Given the description of an element on the screen output the (x, y) to click on. 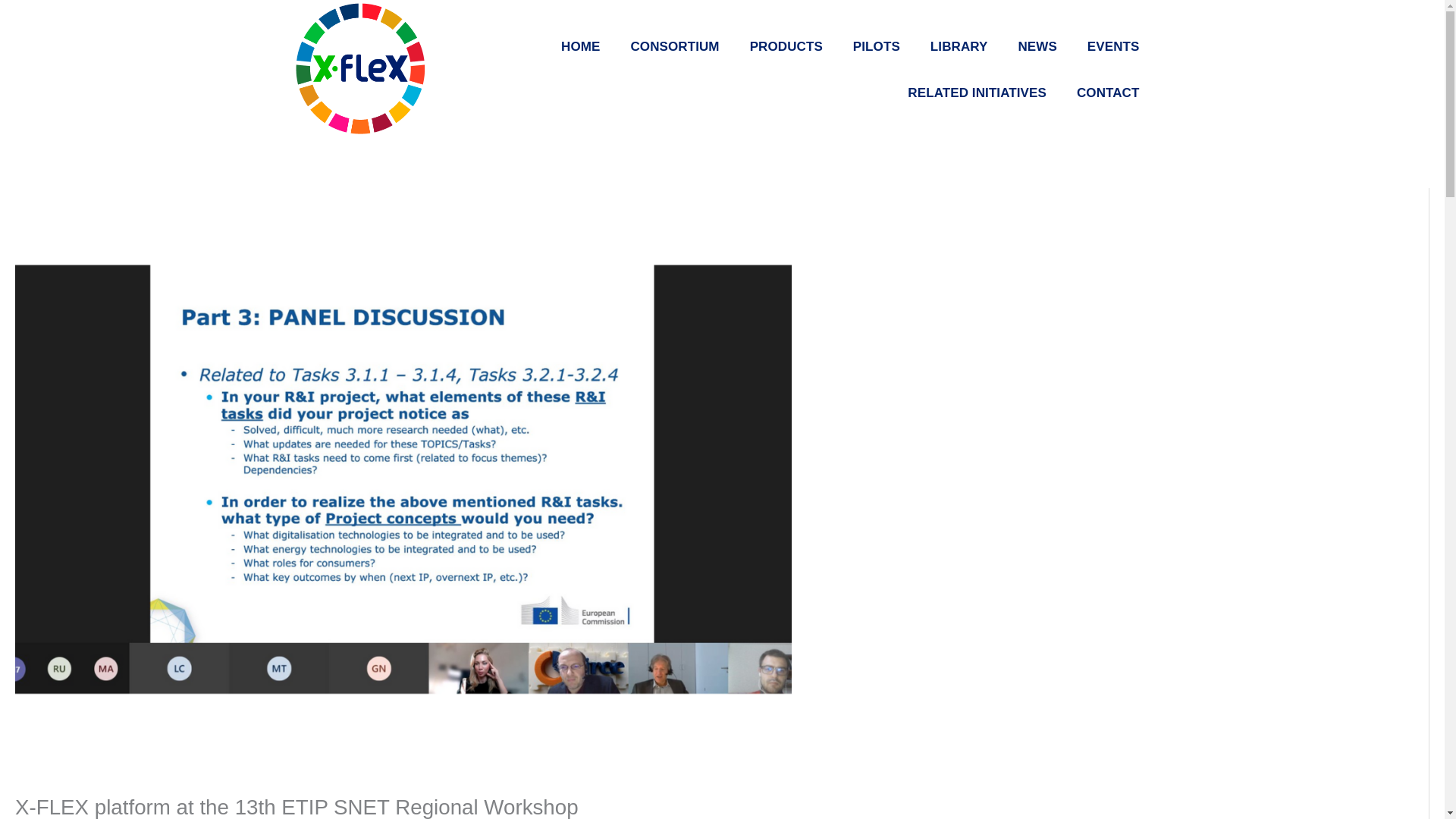
CONTACT (1107, 92)
LIBRARY (959, 46)
EVENTS (1112, 46)
PILOTS (876, 46)
CONSORTIUM (673, 46)
HOME (580, 46)
NEWS (1037, 46)
RELATED INITIATIVES (976, 92)
PRODUCTS (786, 46)
